Given the description of an element on the screen output the (x, y) to click on. 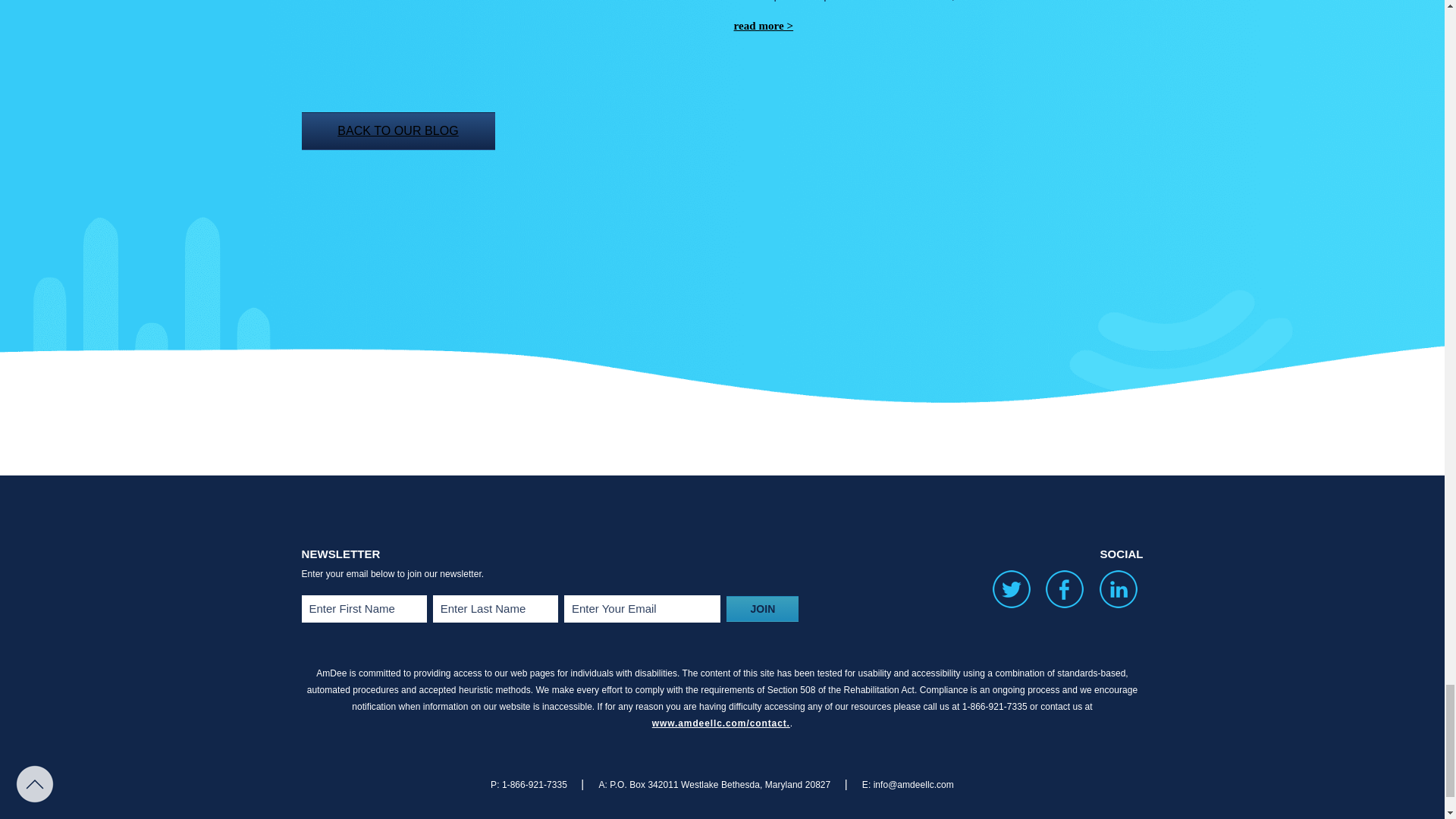
JOIN (761, 608)
BACK TO OUR BLOG (398, 130)
